Given the description of an element on the screen output the (x, y) to click on. 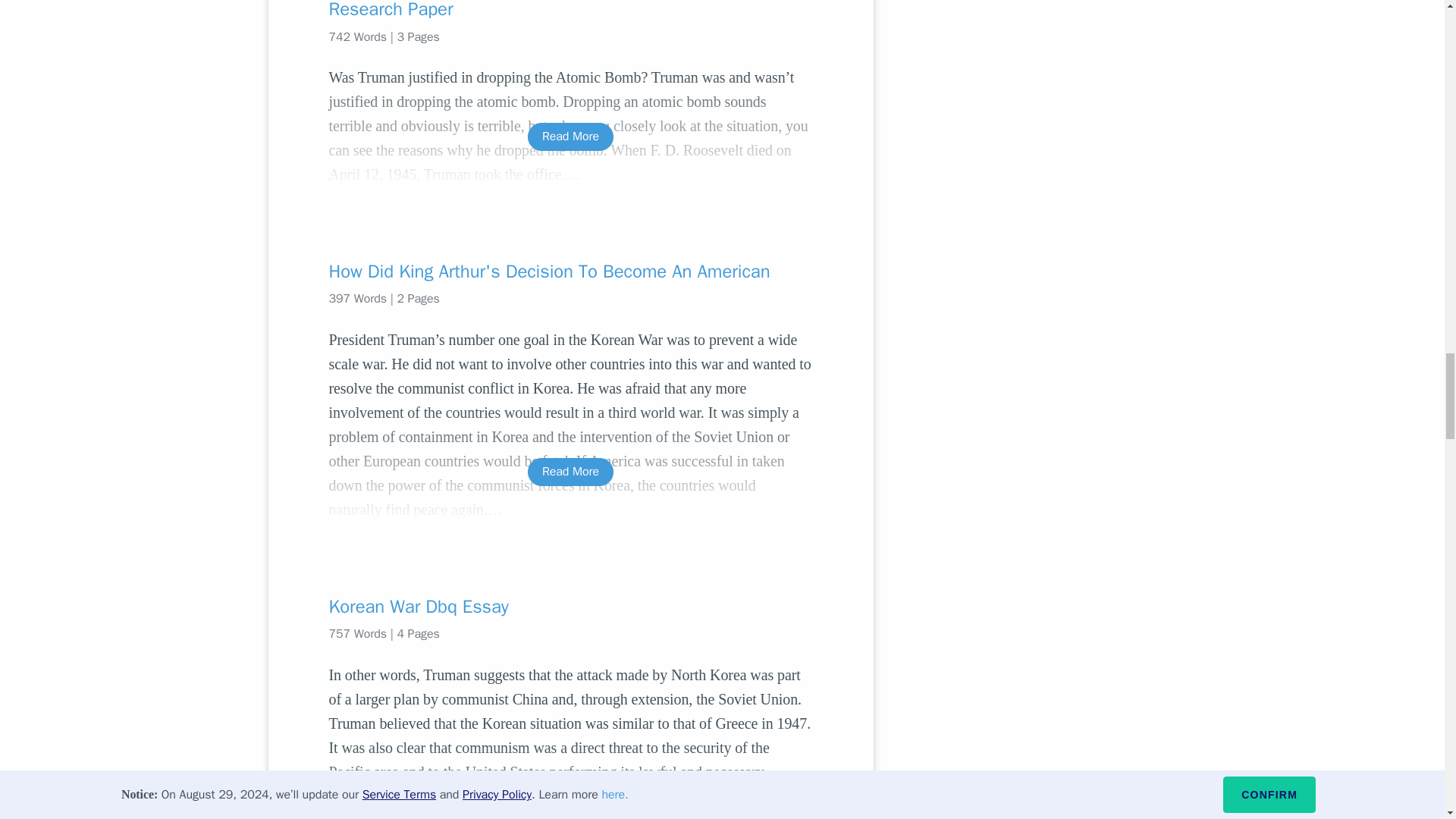
Korean War Dbq Essay (570, 606)
Read More (569, 471)
How Did King Arthur's Decision To Become An American (570, 271)
Read More (569, 806)
Read More (569, 136)
